Given the description of an element on the screen output the (x, y) to click on. 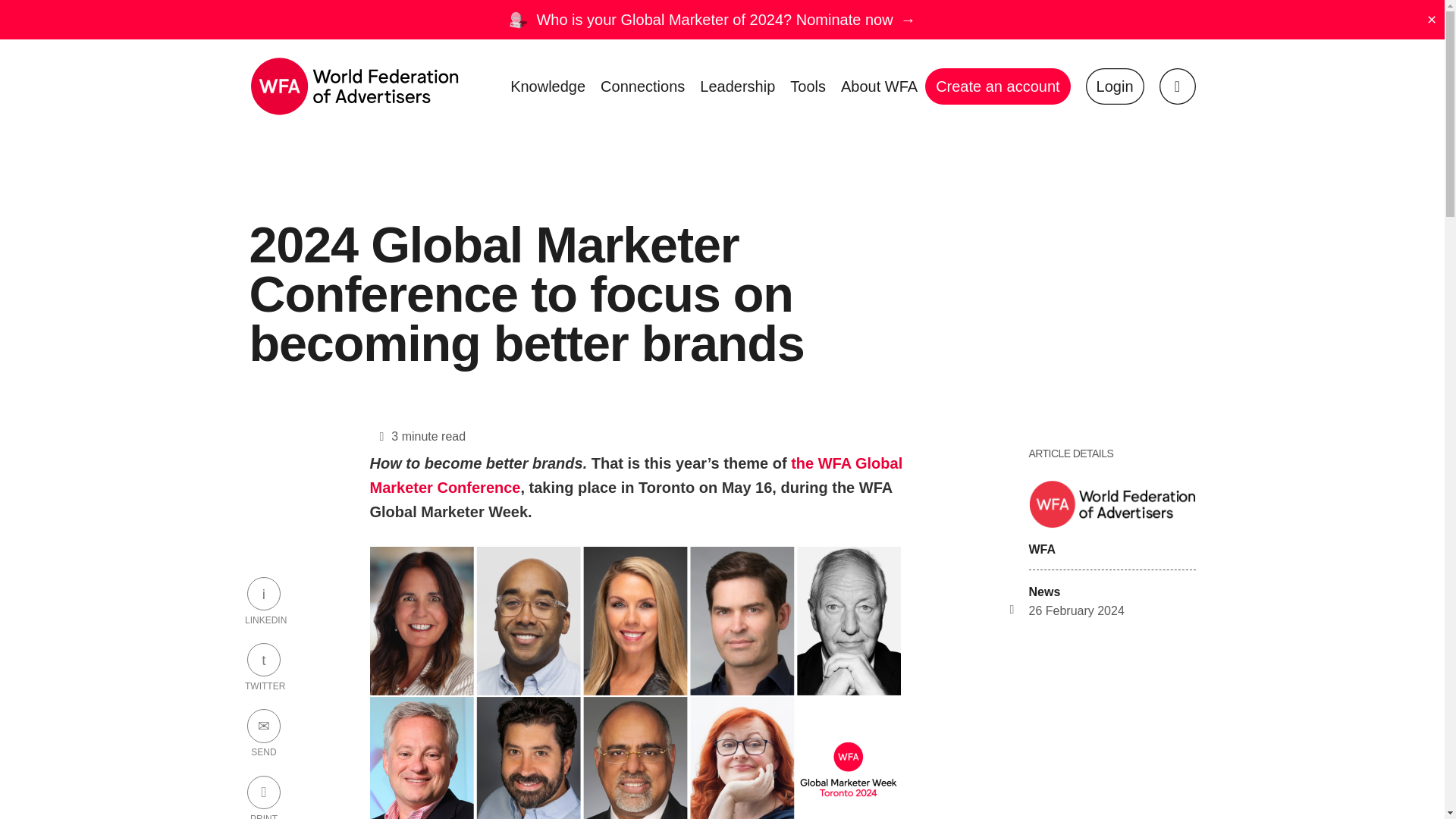
About WFA (878, 85)
Leadership (738, 85)
Log in (1115, 85)
Toggle Search popup (1176, 85)
Knowledge (547, 85)
Connections (642, 85)
Tools (807, 85)
